Given the description of an element on the screen output the (x, y) to click on. 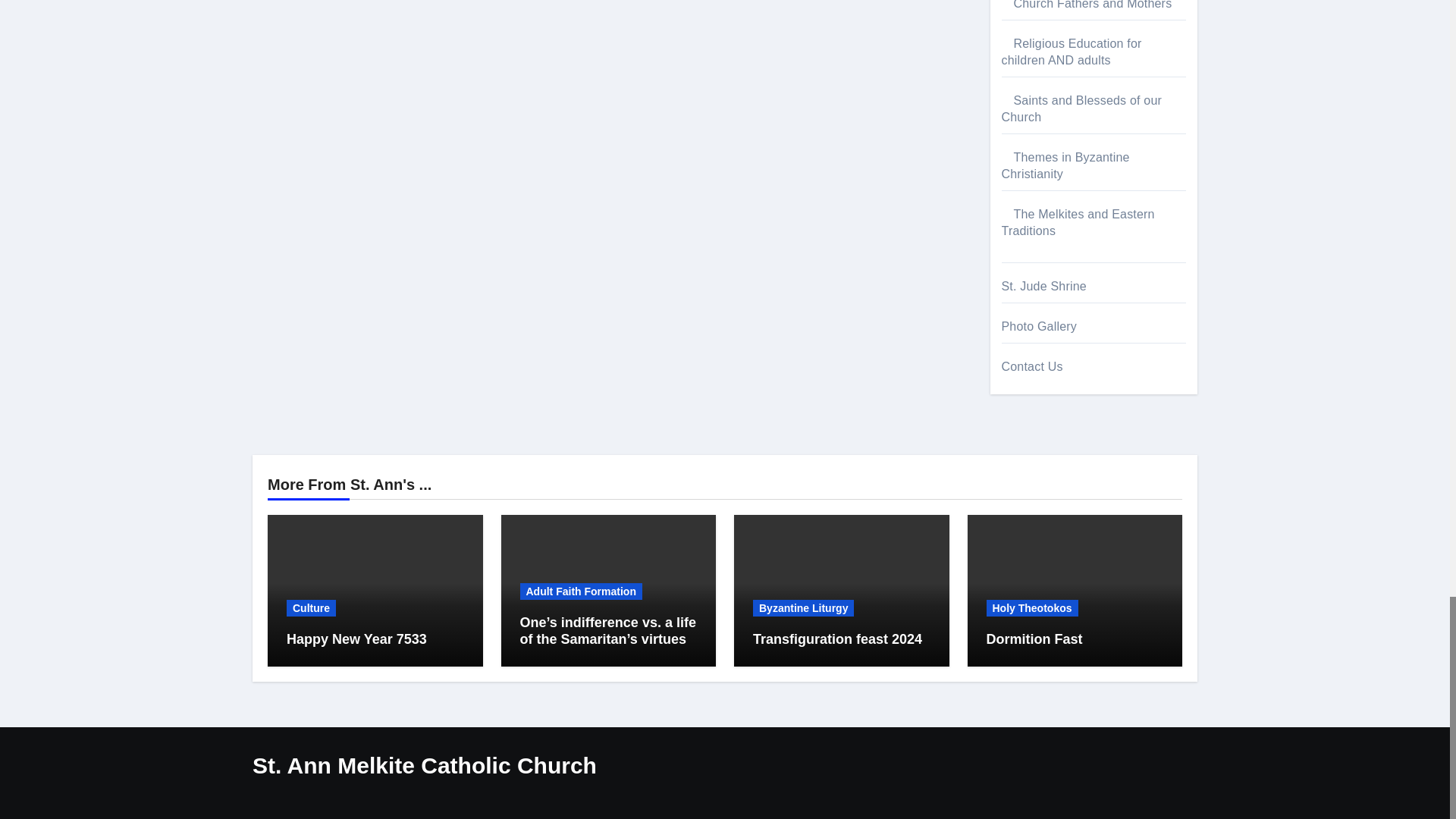
Permalink to: Transfiguration feast 2024 (836, 639)
Permalink to: Dormition Fast (1033, 639)
Permalink to: Happy New Year 7533 (356, 639)
